Given the description of an element on the screen output the (x, y) to click on. 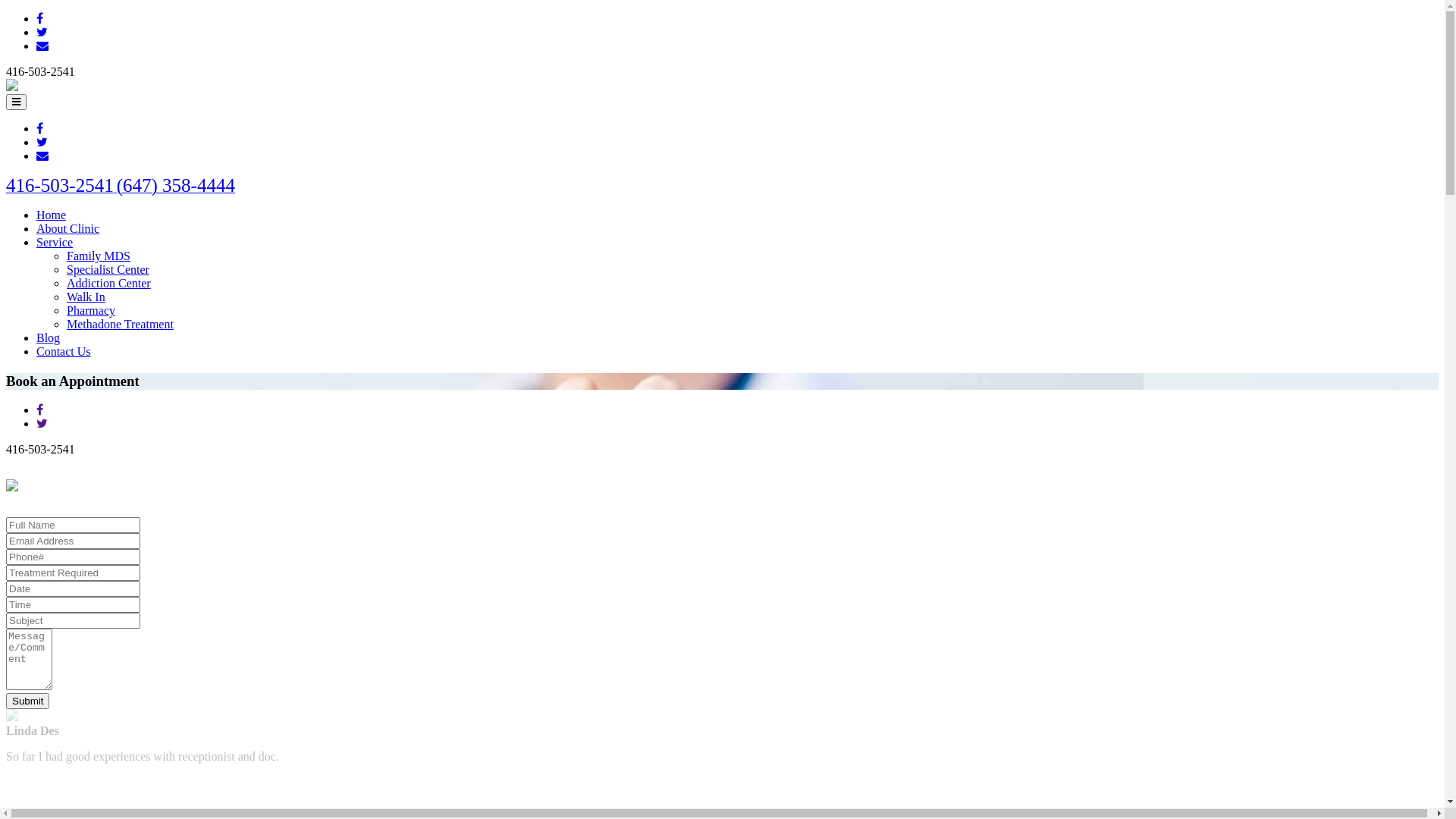
About Clinic Element type: text (67, 228)
Service Element type: text (54, 241)
Specialist Center Element type: text (107, 269)
(647) 358-4444 Element type: text (175, 187)
Methadone Treatment Element type: text (119, 323)
Walk In Element type: text (85, 296)
Contact Us Element type: text (63, 351)
Addiction Center Element type: text (108, 282)
Submit Element type: text (27, 701)
Family MDS Element type: text (98, 255)
Blog Element type: text (47, 337)
Pharmacy Element type: text (90, 310)
Home Element type: text (50, 214)
416-503-2541 Element type: text (61, 187)
